Given the description of an element on the screen output the (x, y) to click on. 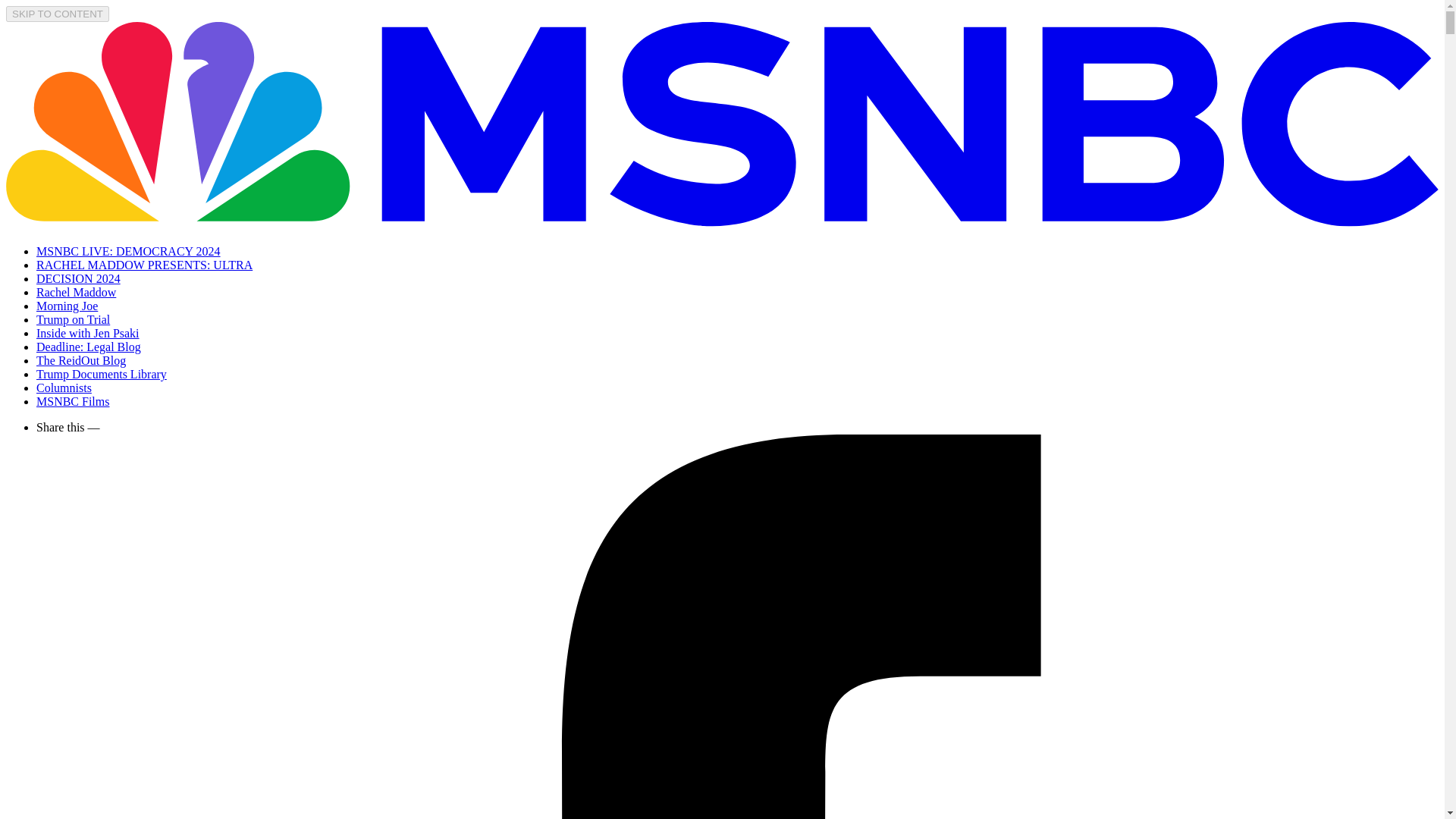
DECISION 2024 (78, 278)
Morning Joe (66, 305)
Trump Documents Library (101, 373)
SKIP TO CONTENT (57, 13)
Trump on Trial (73, 318)
The ReidOut Blog (80, 359)
Inside with Jen Psaki (87, 332)
MSNBC LIVE: DEMOCRACY 2024 (128, 250)
Rachel Maddow (76, 291)
MSNBC Films (72, 400)
Deadline: Legal Blog (88, 346)
RACHEL MADDOW PRESENTS: ULTRA (143, 264)
Columnists (63, 387)
